Given the description of an element on the screen output the (x, y) to click on. 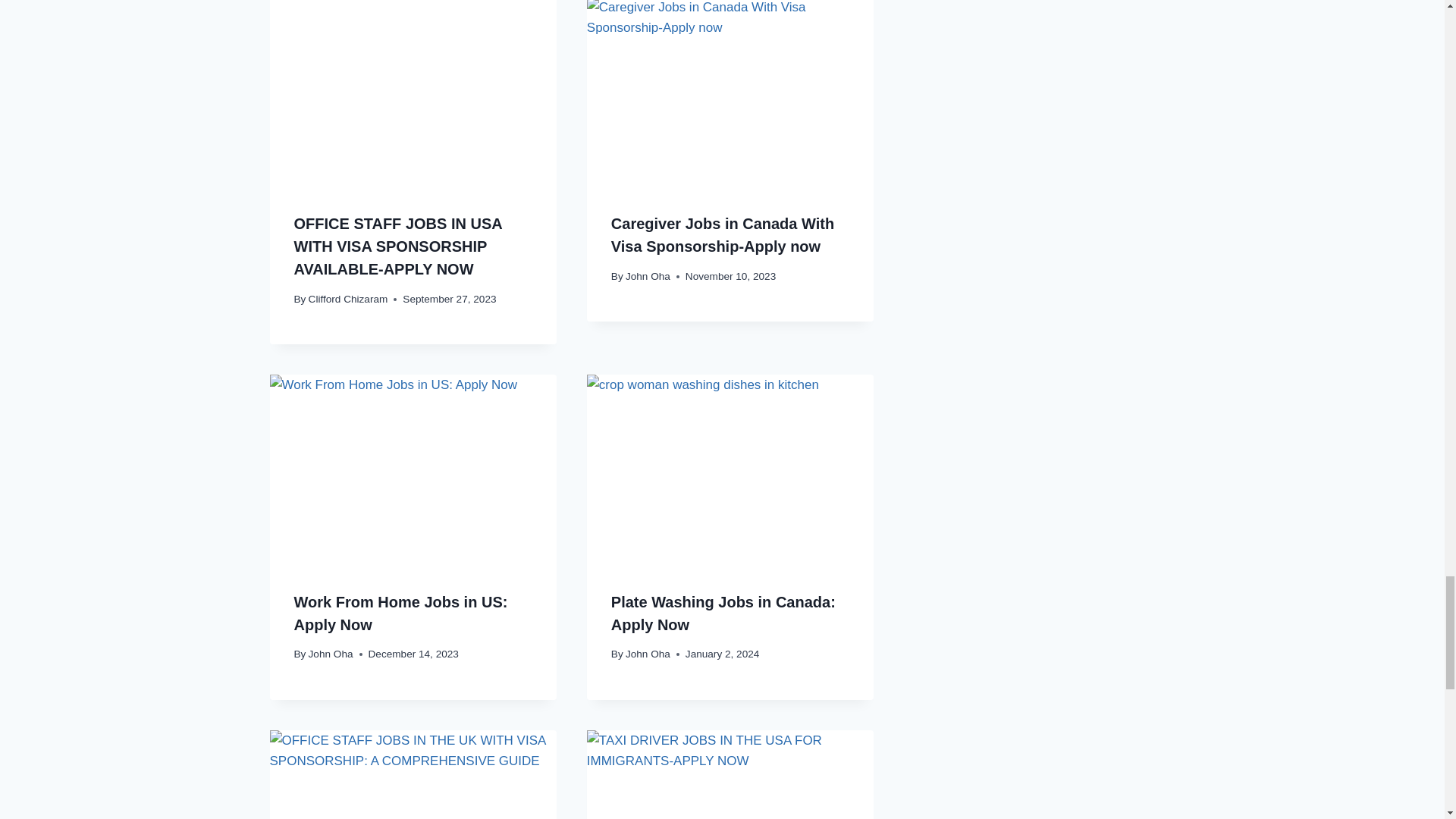
Work From Home Jobs in US: Apply Now (401, 613)
Clifford Chizaram (348, 298)
John Oha (647, 276)
Caregiver Jobs in Canada With Visa Sponsorship-Apply now (722, 234)
Plate Washing Jobs in Canada: Apply Now (723, 613)
John Oha (330, 654)
